Given the description of an element on the screen output the (x, y) to click on. 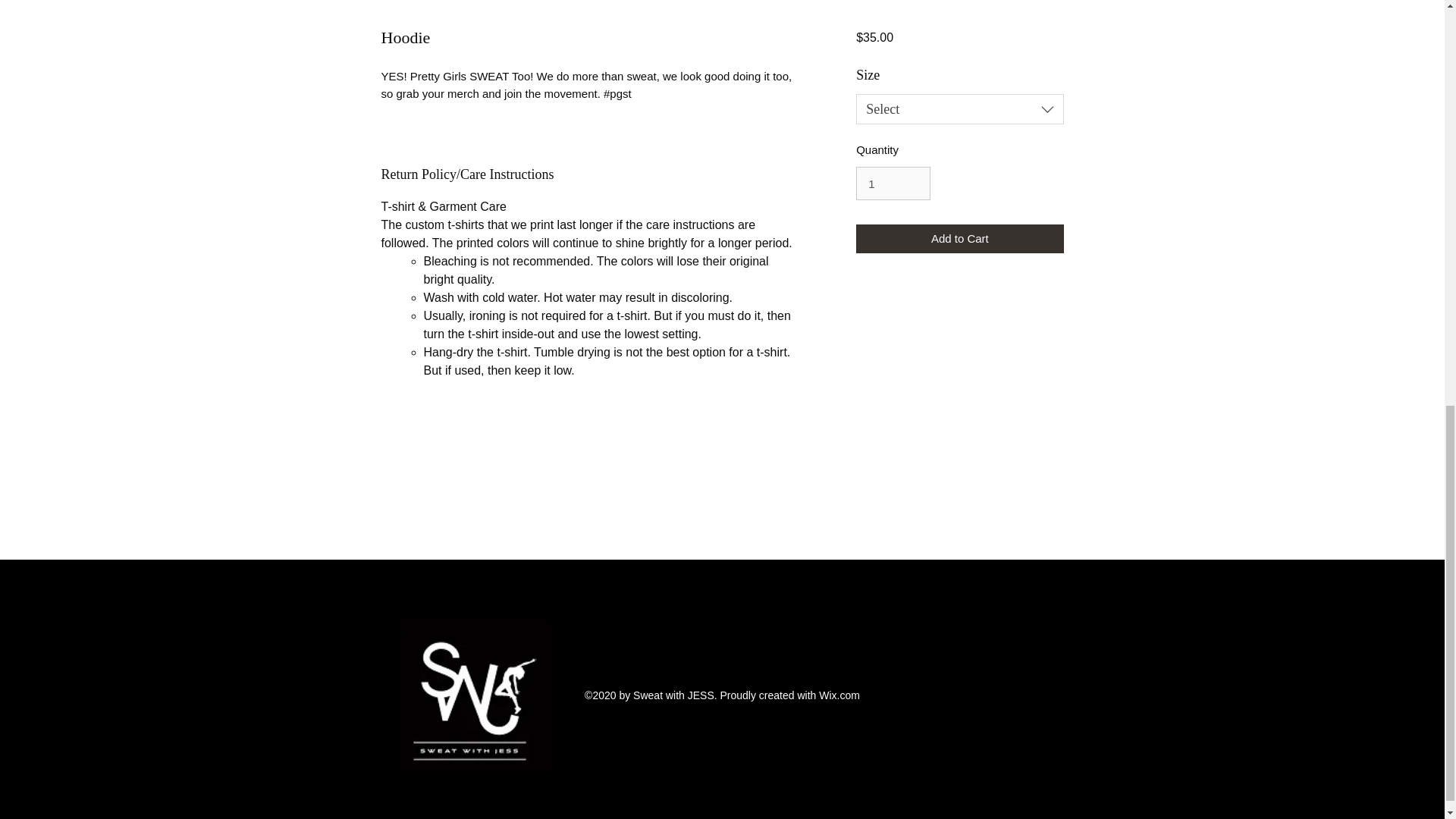
Select (959, 109)
1 (893, 183)
Add to Cart (959, 238)
